Given the description of an element on the screen output the (x, y) to click on. 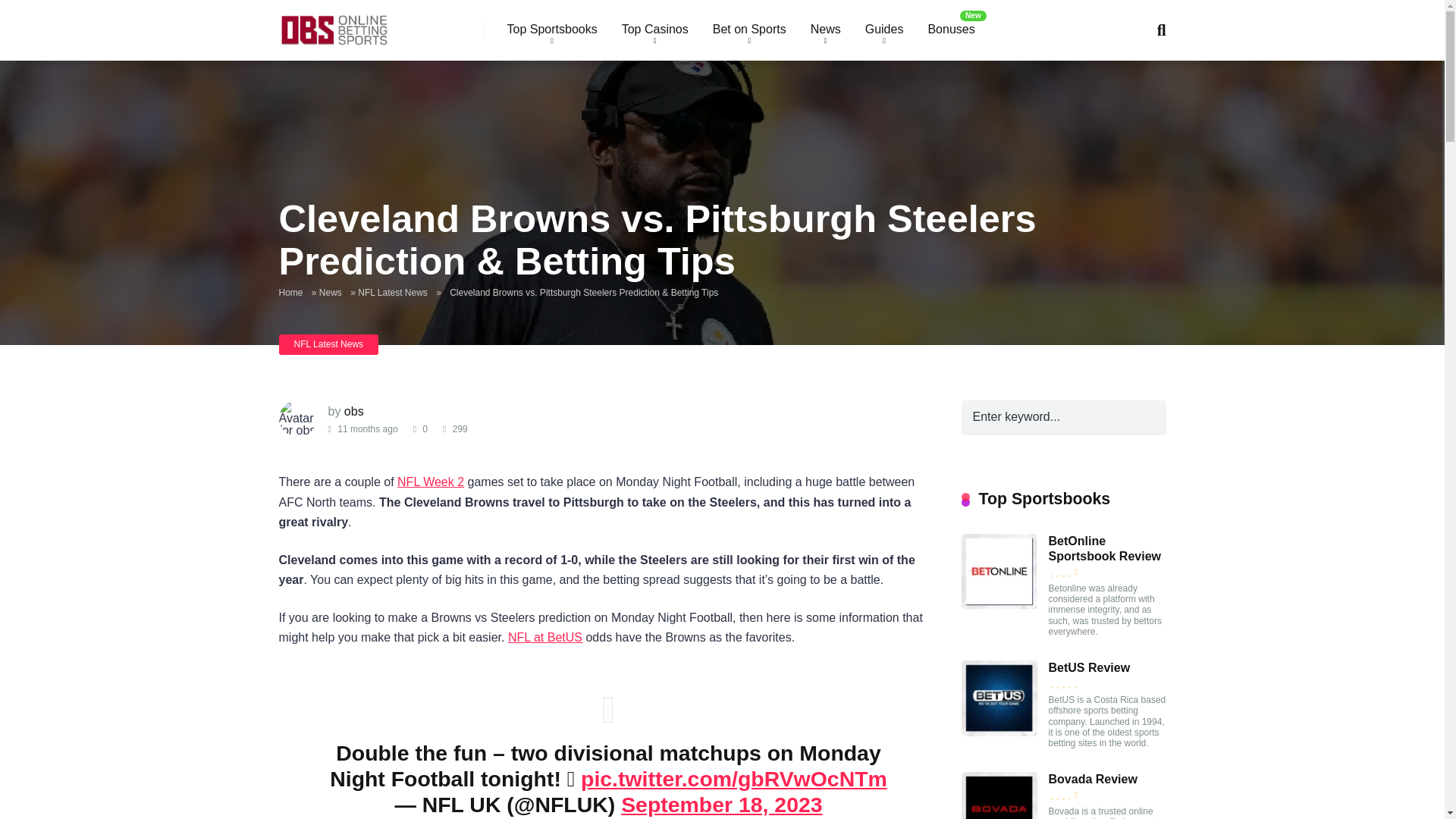
Gravatar for obs (298, 418)
Top Casinos (655, 30)
Bet on Sports (748, 30)
Posts by obs (353, 410)
Top Sportsbooks (551, 30)
BetOnline Sportsbook Review (998, 604)
